Given the description of an element on the screen output the (x, y) to click on. 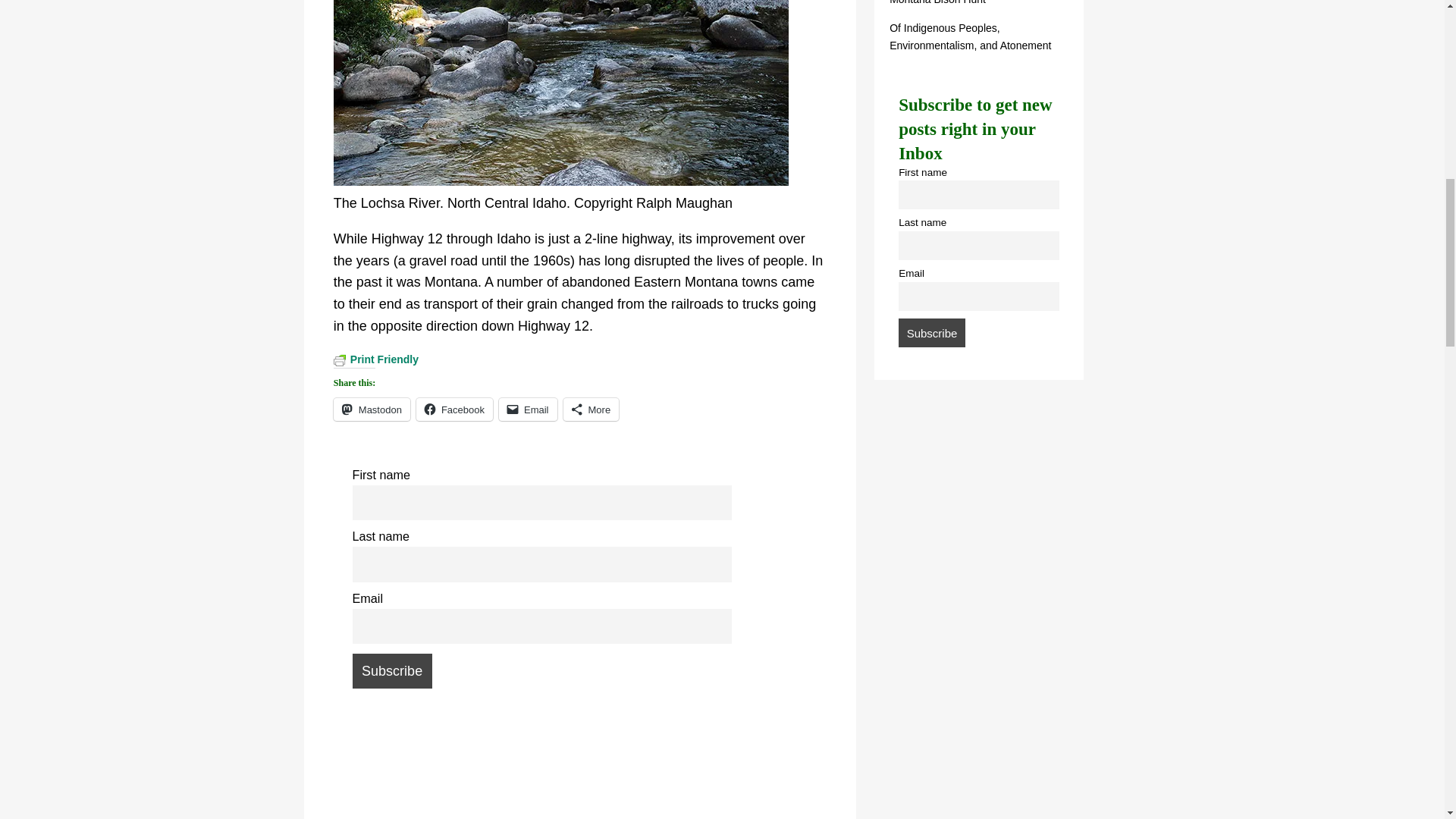
The Lochsa River (561, 92)
Subscribe (931, 332)
Click to email a link to a friend (528, 408)
Click to share on Facebook (454, 408)
Click to share on Mastodon (371, 408)
Subscribe (391, 670)
